Given the description of an element on the screen output the (x, y) to click on. 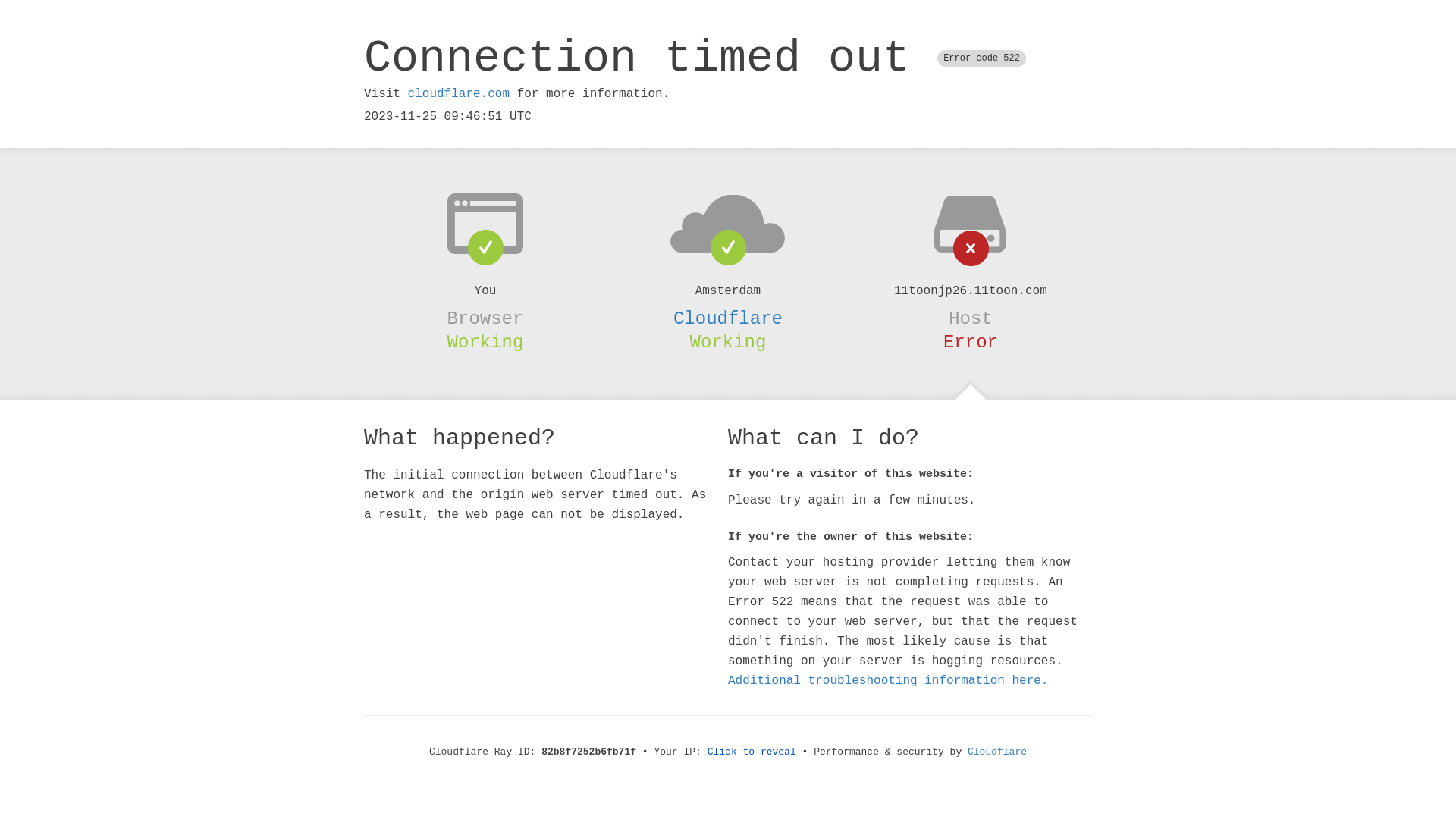
Cloudflare Element type: text (727, 318)
cloudflare.com Element type: text (458, 93)
Additional troubleshooting information here. Element type: text (888, 680)
Click to reveal Element type: text (751, 751)
Cloudflare Element type: text (996, 751)
